Given the description of an element on the screen output the (x, y) to click on. 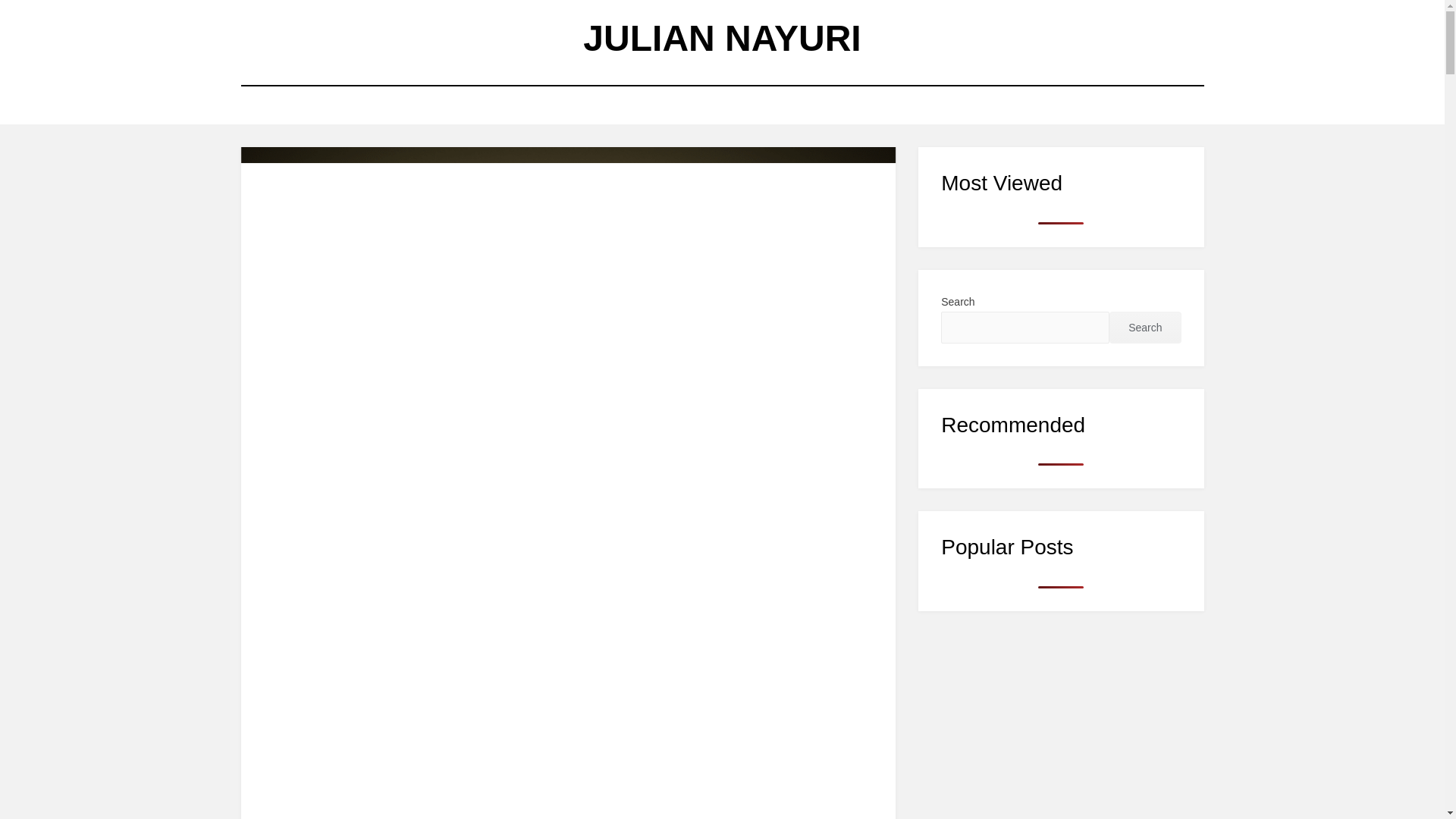
Julian Nayuri (721, 38)
Search (1144, 327)
JULIAN NAYURI (721, 38)
